Given the description of an element on the screen output the (x, y) to click on. 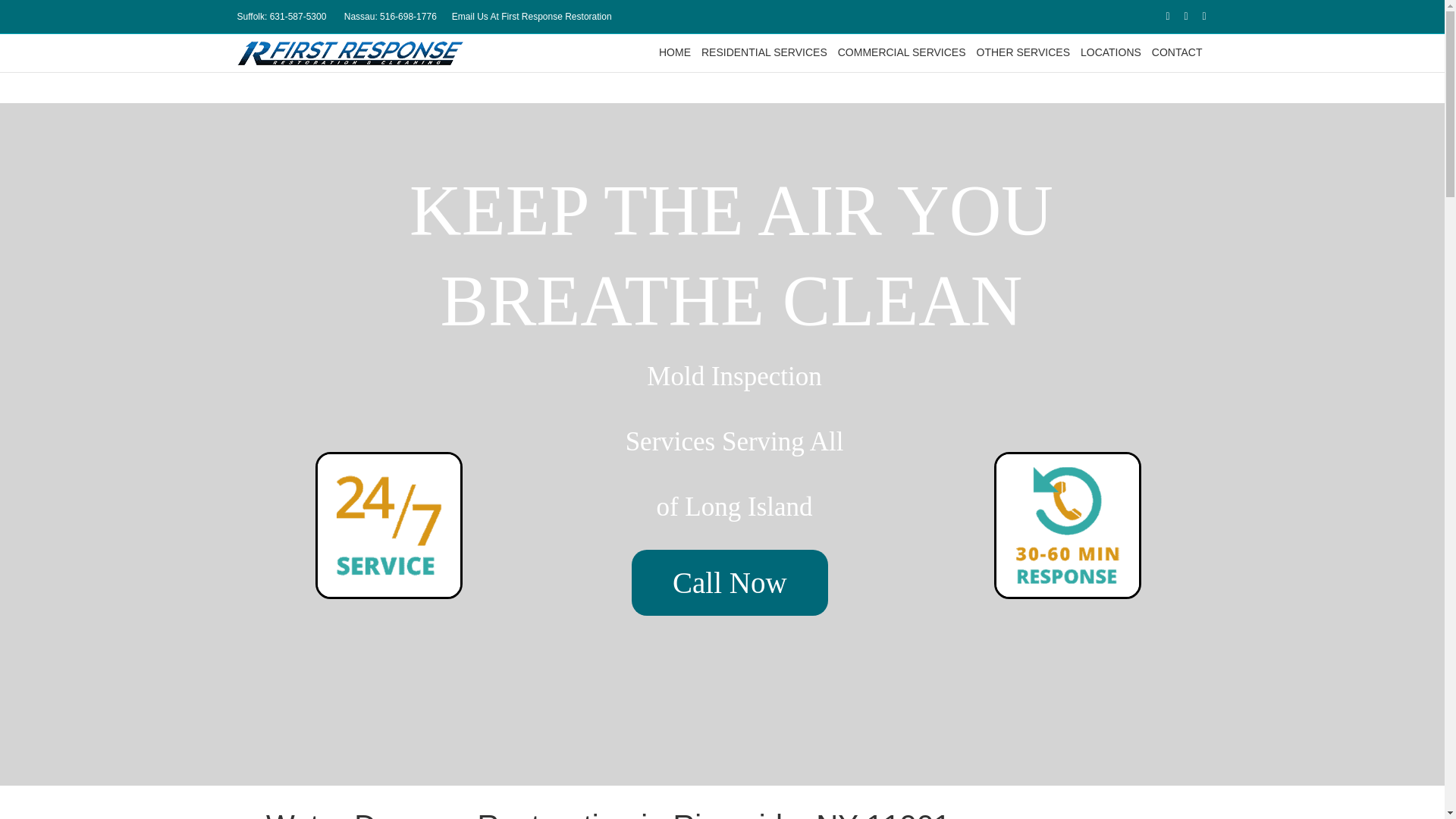
Suffolk: 631-587-5300 (280, 16)
Facebook (1160, 15)
Email Us At First Response Restoration (531, 16)
Nassau: 516-698-1776 (389, 16)
Google (1178, 15)
